Given the description of an element on the screen output the (x, y) to click on. 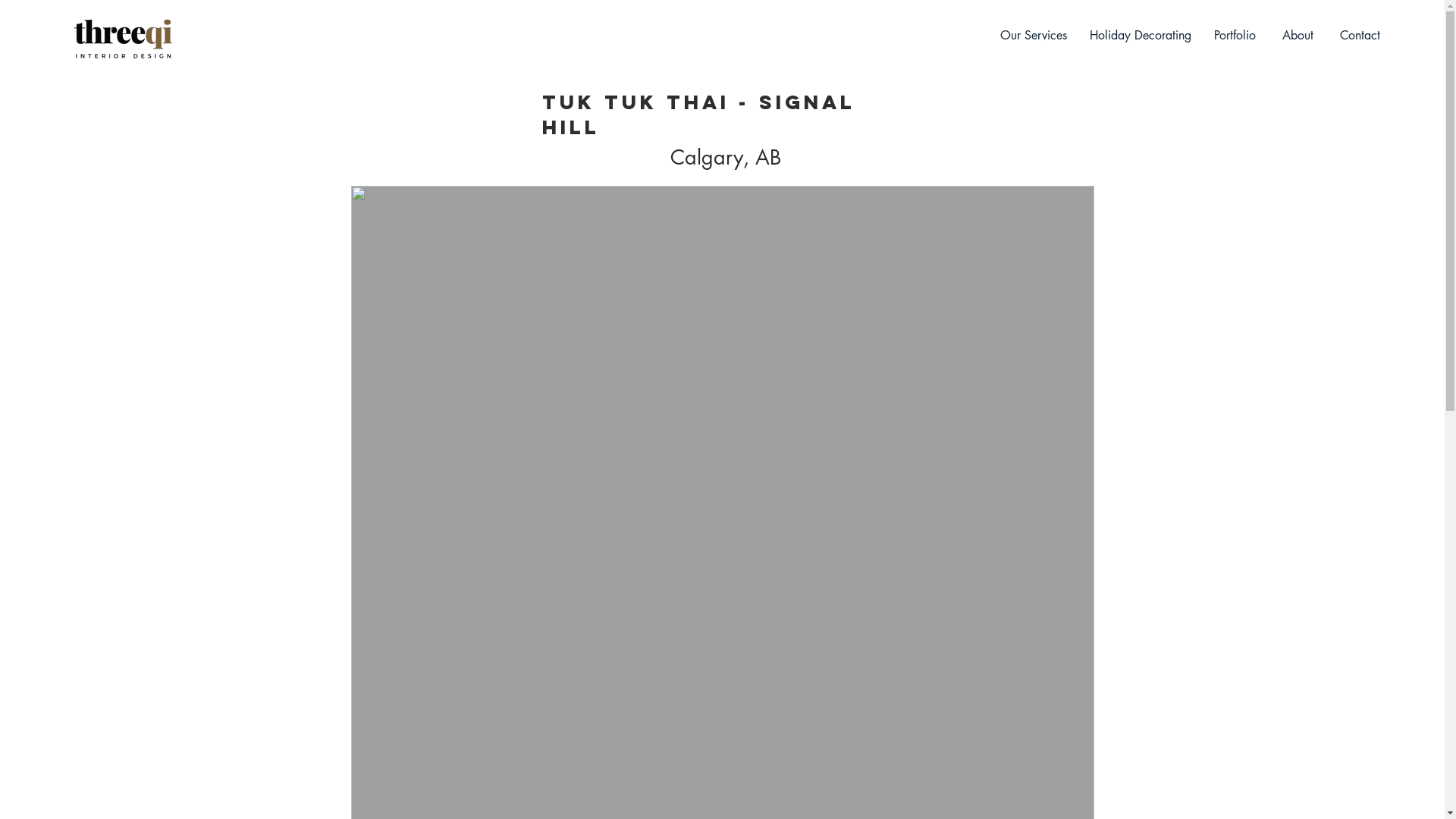
About Element type: text (1297, 35)
Portfolio Element type: text (1234, 35)
Holiday Decorating Element type: text (1140, 35)
Our Services Element type: text (1033, 35)
Contact Element type: text (1360, 35)
